Given the description of an element on the screen output the (x, y) to click on. 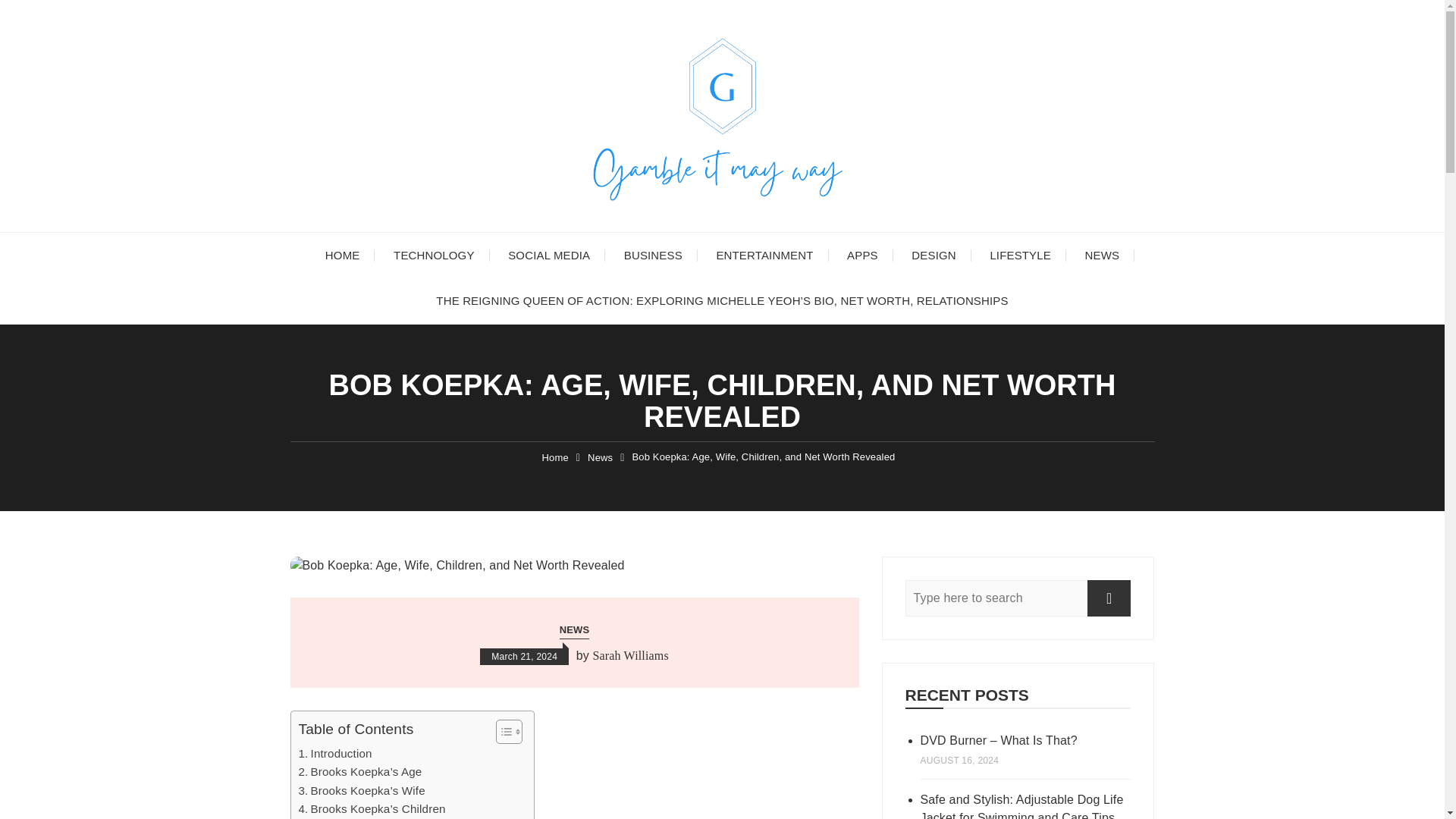
ENTERTAINMENT (764, 255)
NEWS (574, 630)
Introduction (335, 753)
BUSINESS (652, 255)
News (600, 458)
APPS (862, 255)
Introduction (335, 753)
LIFESTYLE (1019, 255)
March 21, 2024 (524, 656)
Sarah Williams (630, 656)
